Given the description of an element on the screen output the (x, y) to click on. 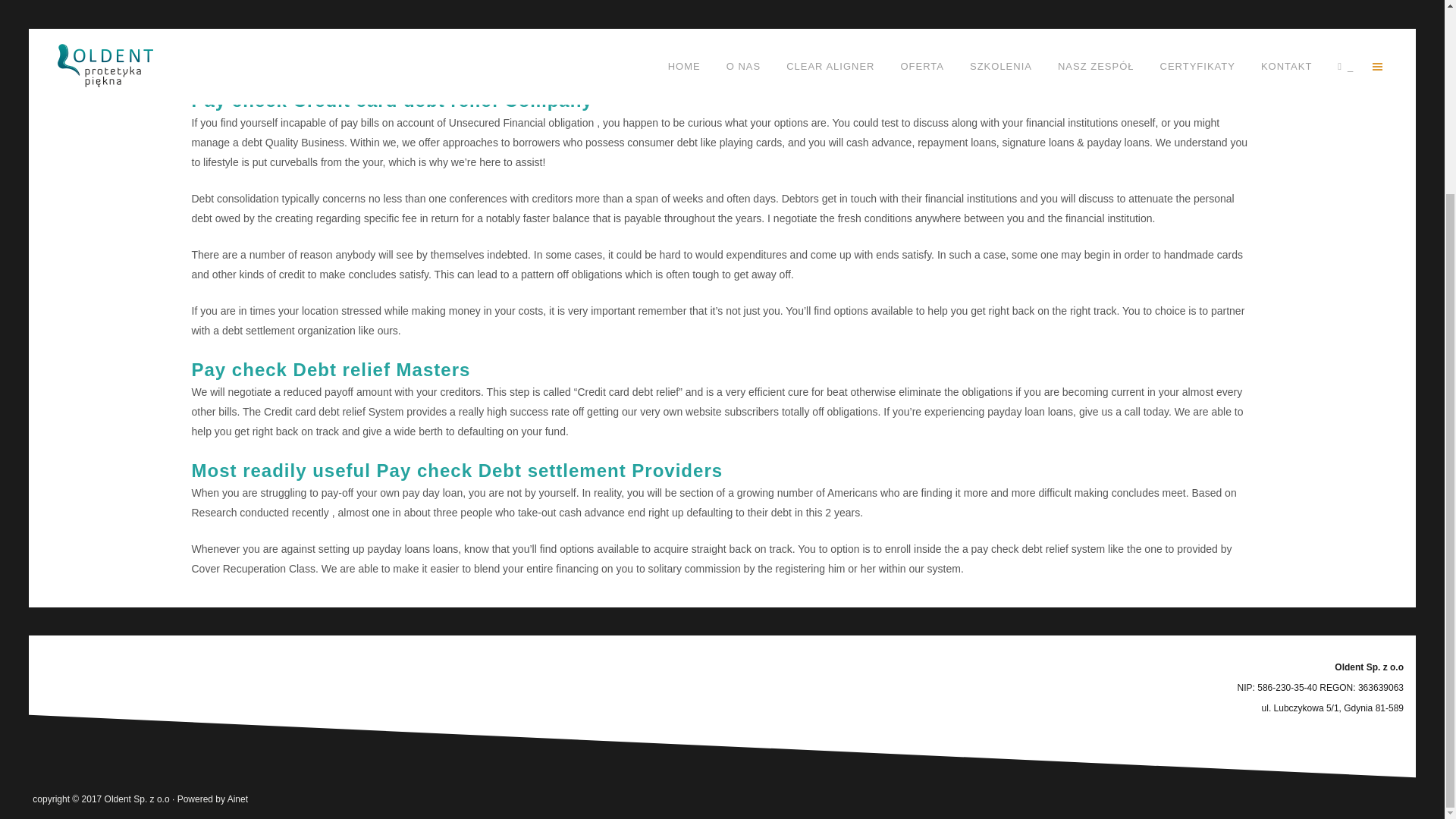
Ainet - Agencja interaktywna (237, 798)
